Given the description of an element on the screen output the (x, y) to click on. 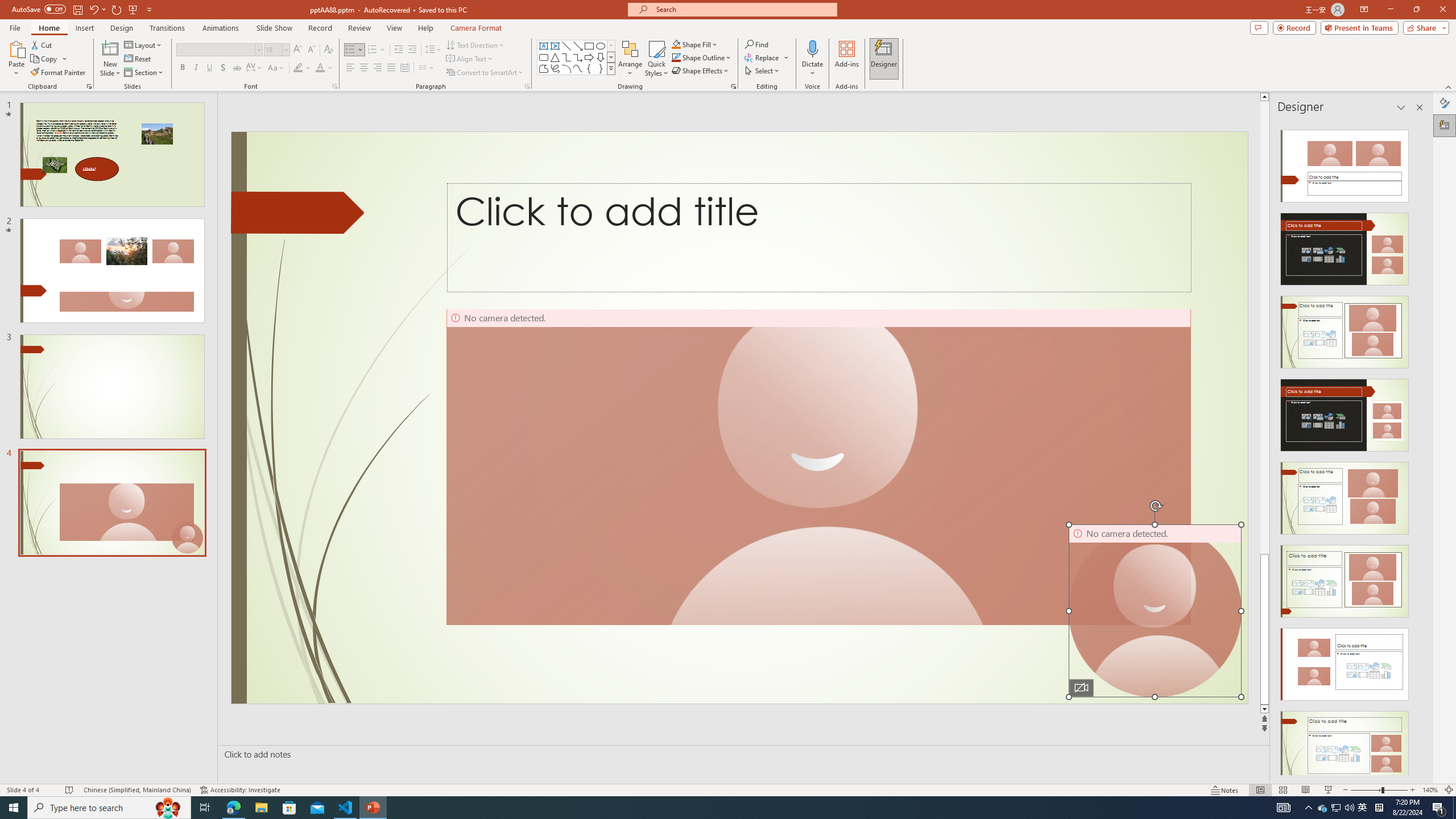
Shape Outline Teal, Accent 1 (675, 56)
Arc (566, 68)
Isosceles Triangle (554, 57)
Shadow (223, 67)
Columns (426, 67)
Shape Effects (700, 69)
Slide (111, 502)
Font Color Red (320, 67)
Section (144, 72)
Slide Sorter (1282, 790)
Camera Format (475, 28)
Shapes (611, 68)
Help (425, 28)
Arrange (630, 58)
